Given the description of an element on the screen output the (x, y) to click on. 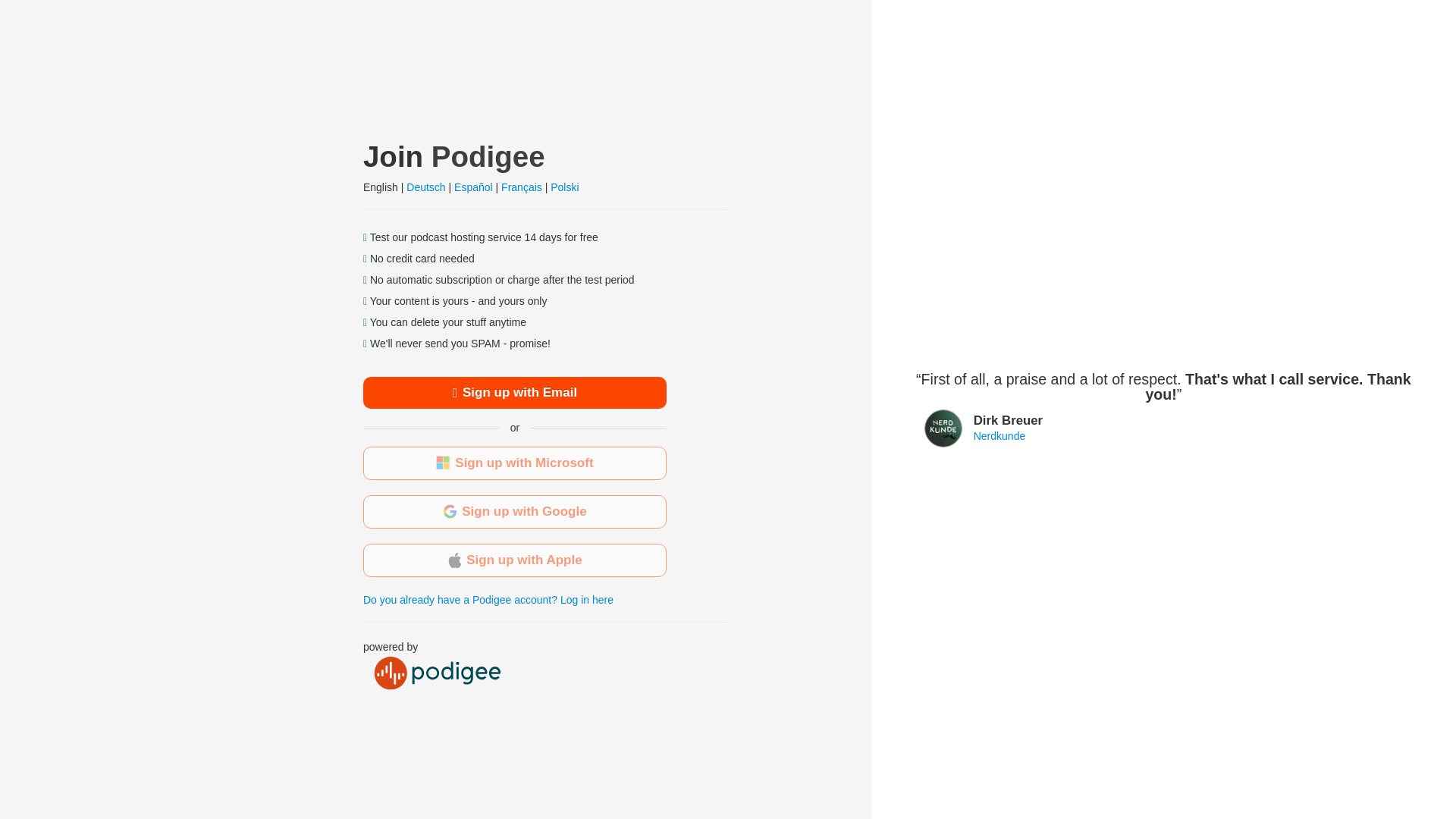
Sign up with Apple (514, 560)
Deutsch (425, 186)
Nerdkunde (1000, 435)
Podigee (487, 156)
Back to the Podigee homepage (487, 156)
Polski (564, 186)
Sign up with Microsoft (514, 462)
Sign up with Google (514, 511)
Do you already have a Podigee account? Log in here (487, 599)
